Given the description of an element on the screen output the (x, y) to click on. 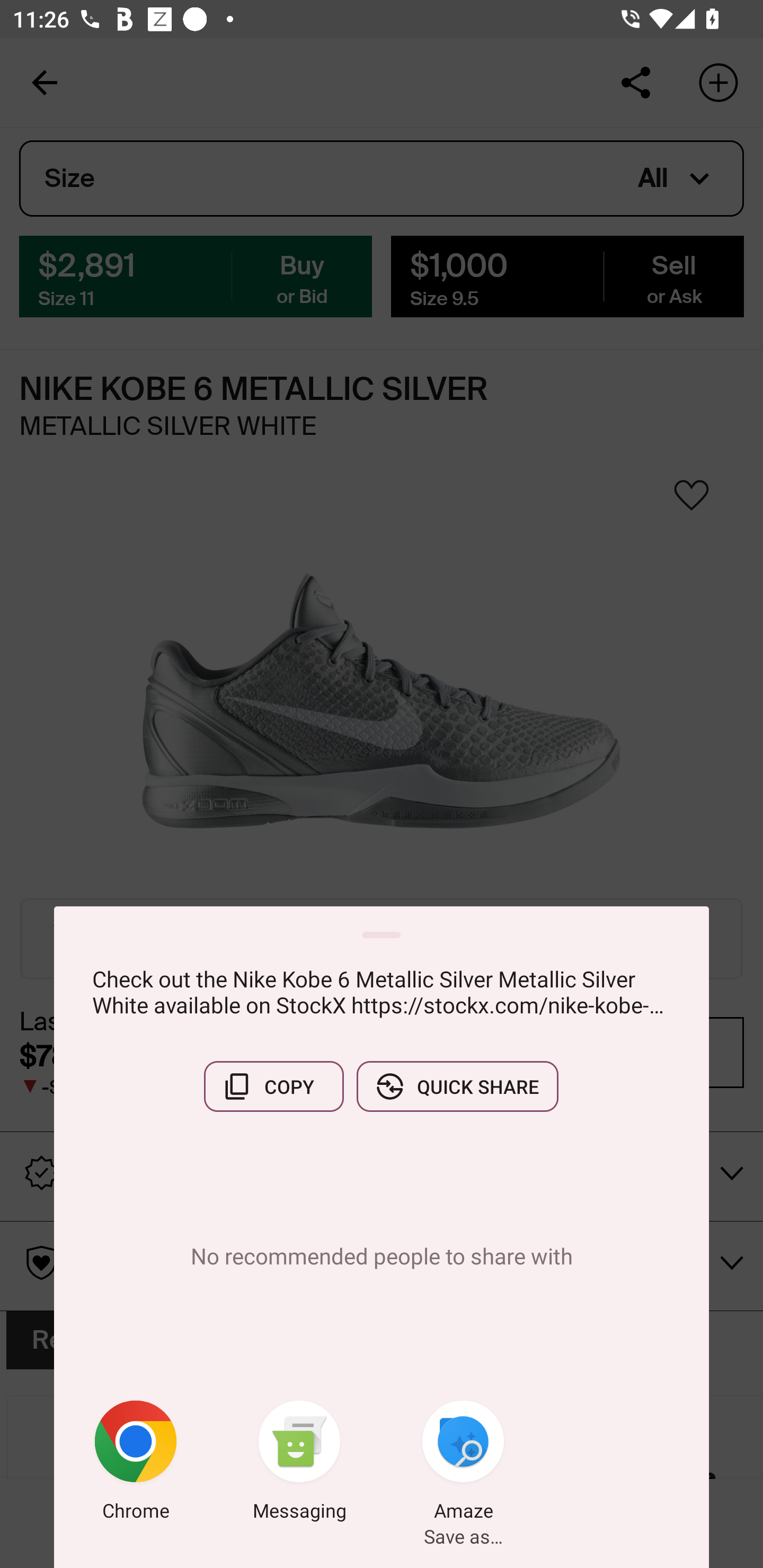
COPY (273, 1086)
QUICK SHARE (457, 1086)
Chrome (135, 1463)
Messaging (299, 1463)
Amaze Save as… (463, 1463)
